Given the description of an element on the screen output the (x, y) to click on. 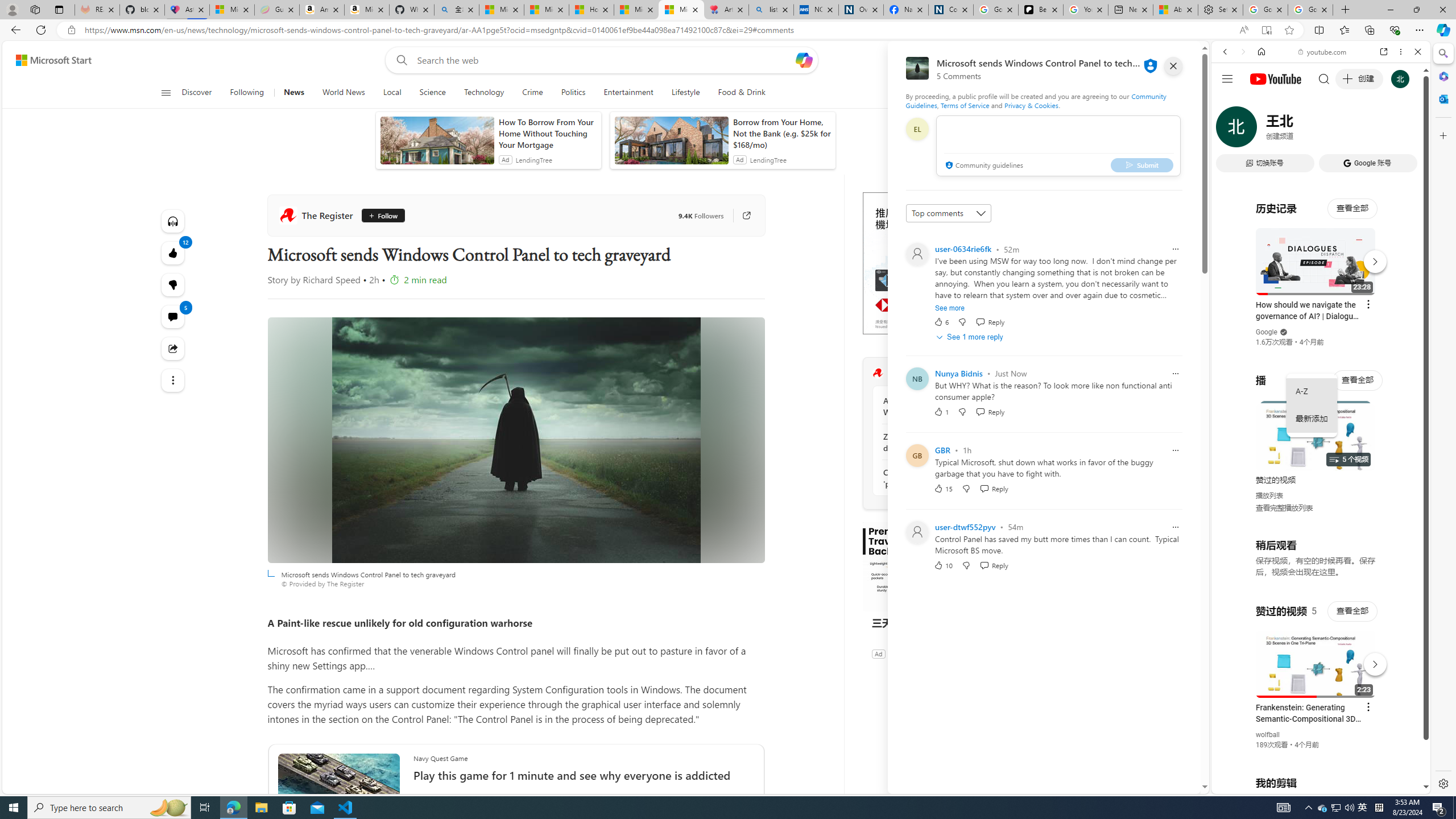
6 Like (940, 321)
Crime (531, 92)
Web scope (1230, 102)
Visit The Register website (1018, 372)
Music (1320, 309)
